Given the description of an element on the screen output the (x, y) to click on. 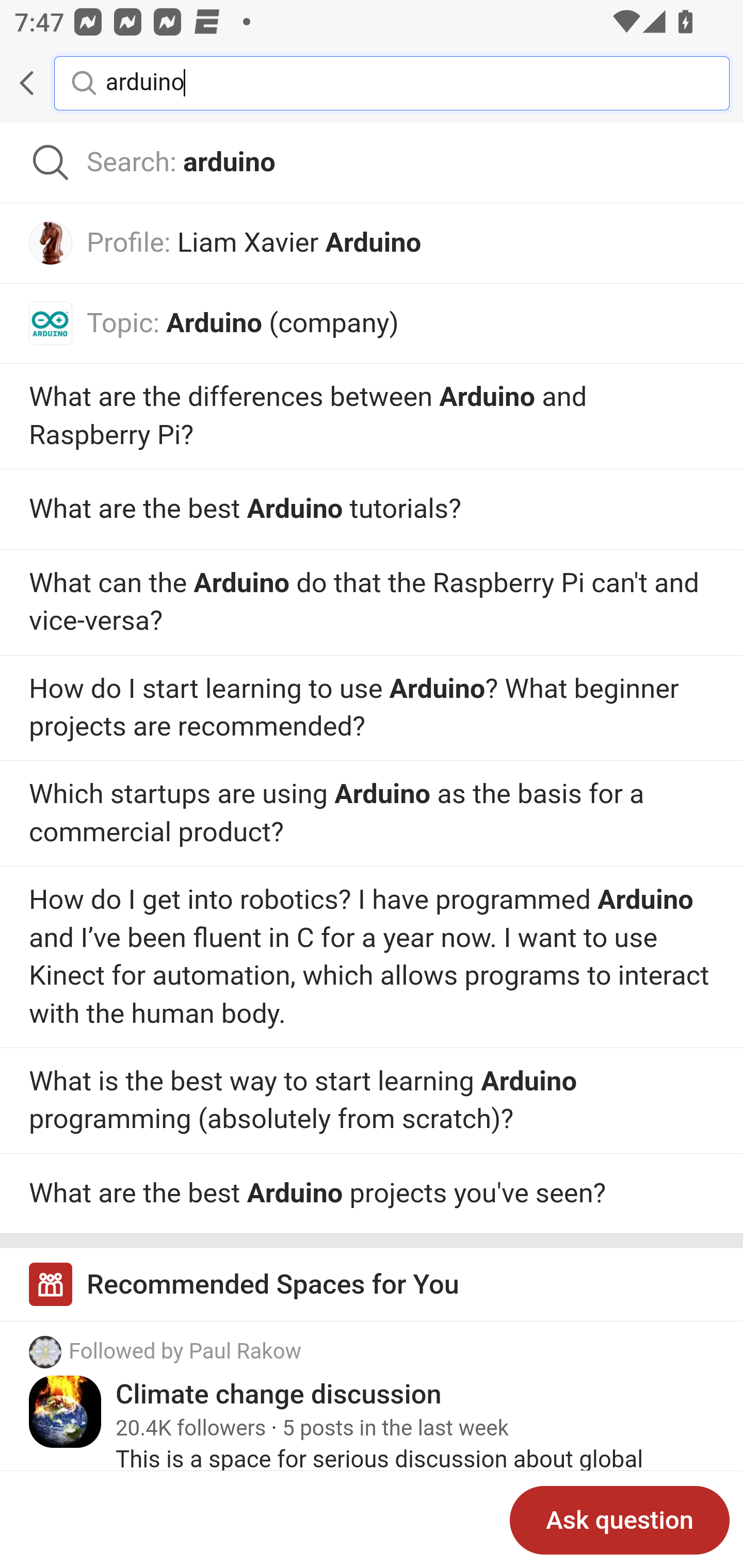
Me Home Search Add (371, 82)
arduino (402, 82)
Search: ar (371, 162)
Profile photo for Liam Xavier Arduino (50, 241)
Icon for Arduino (company) (50, 322)
What are the best Arduino tutorials? (371, 509)
What are the best Arduino projects you've seen? (371, 1193)
Icon for Climate change discussion (65, 1411)
